Given the description of an element on the screen output the (x, y) to click on. 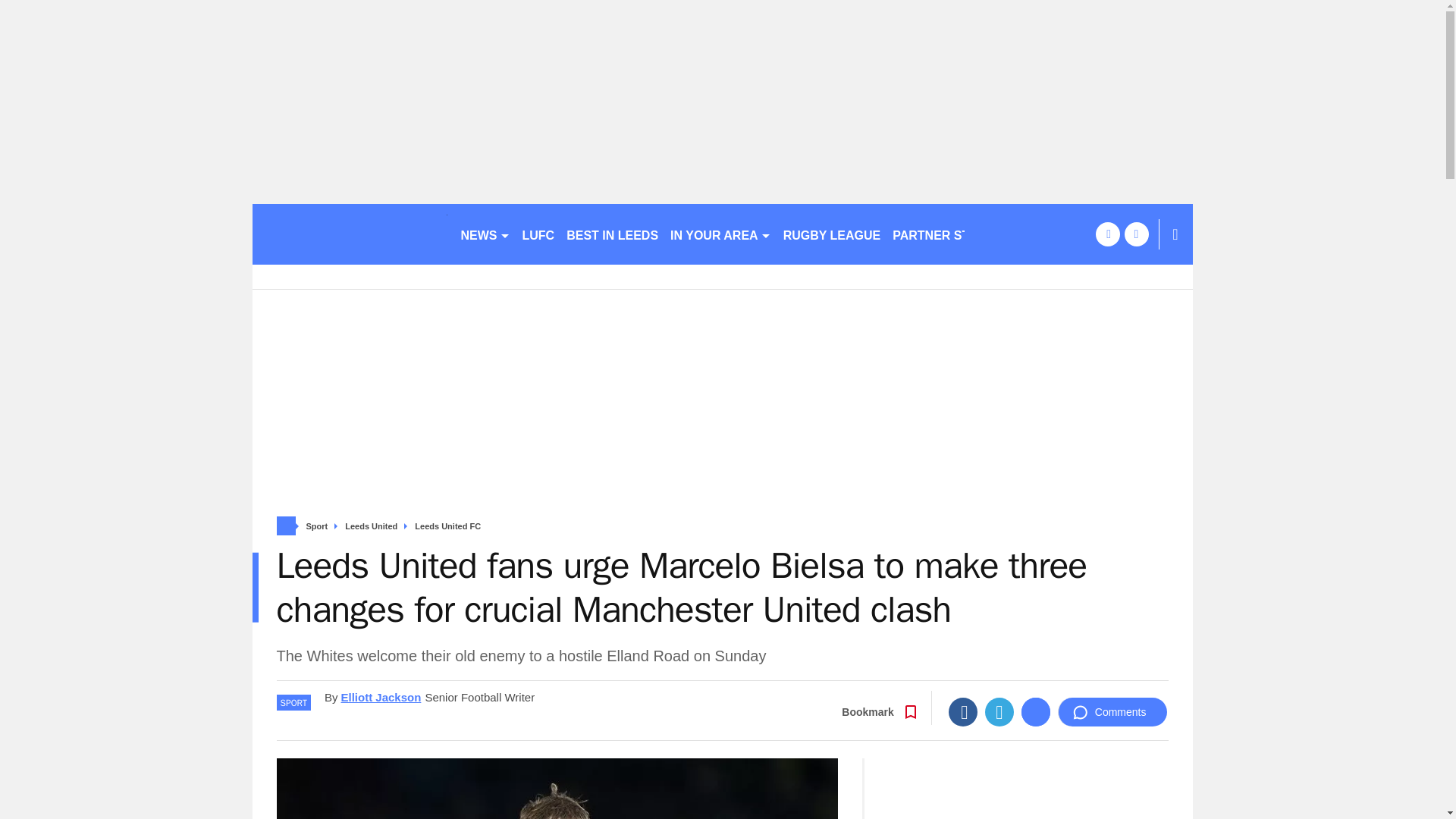
twitter (1136, 233)
IN YOUR AREA (720, 233)
PARTNER STORIES (949, 233)
facebook (1106, 233)
Facebook (962, 711)
BEST IN LEEDS (611, 233)
Twitter (999, 711)
leedslive (348, 233)
NEWS (485, 233)
Comments (1112, 711)
